Given the description of an element on the screen output the (x, y) to click on. 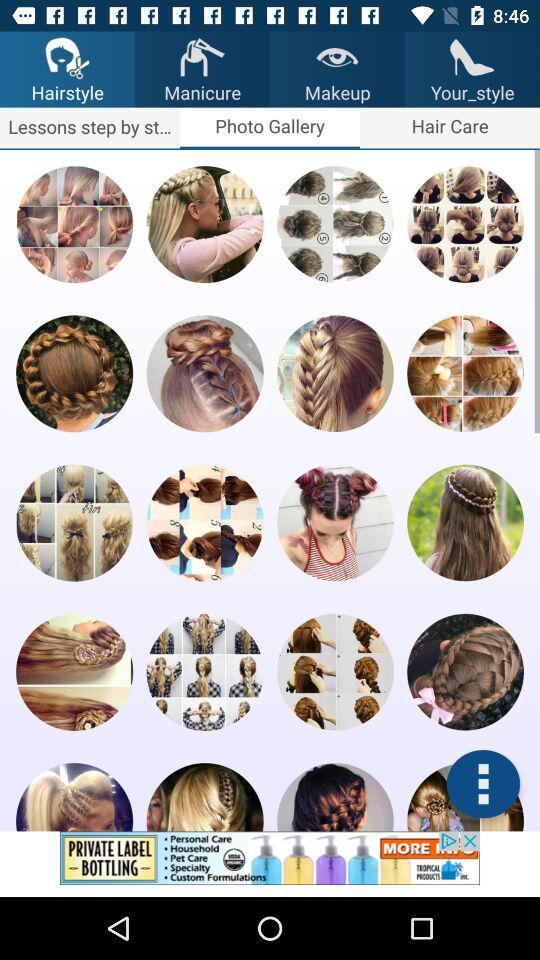
expand a hairstyle lesson (74, 224)
